Given the description of an element on the screen output the (x, y) to click on. 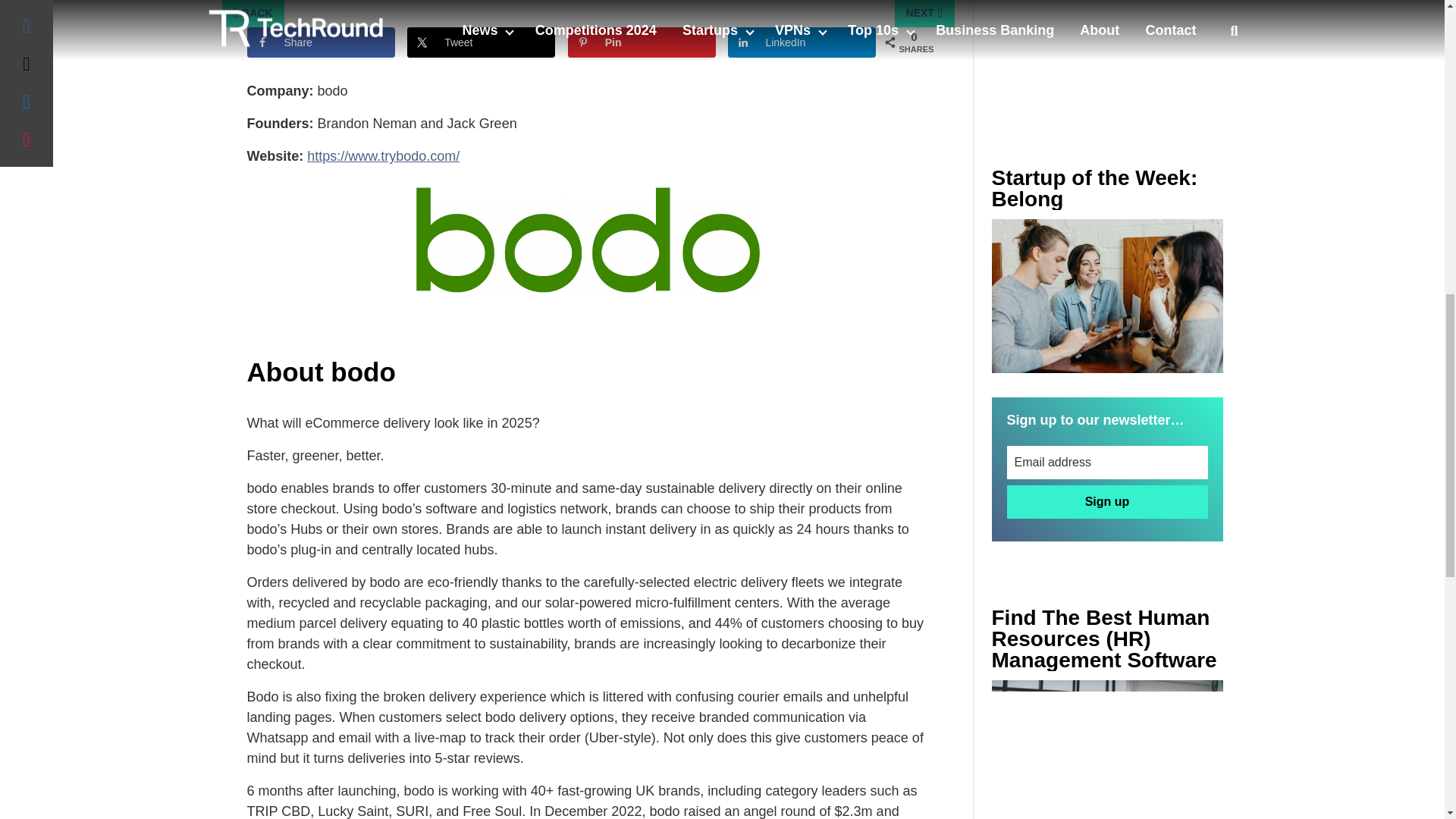
Advertisement (1107, 53)
Share on LinkedIn (802, 42)
Share on X (480, 42)
Enter The BAME Top 50 Entrepreneurs - Deadline 10th Nov 2021 (1107, 749)
Sign up (1107, 501)
Startup of the Week: Neon Link (1107, 296)
Share on Facebook (320, 42)
Save to Pinterest (641, 42)
